Given the description of an element on the screen output the (x, y) to click on. 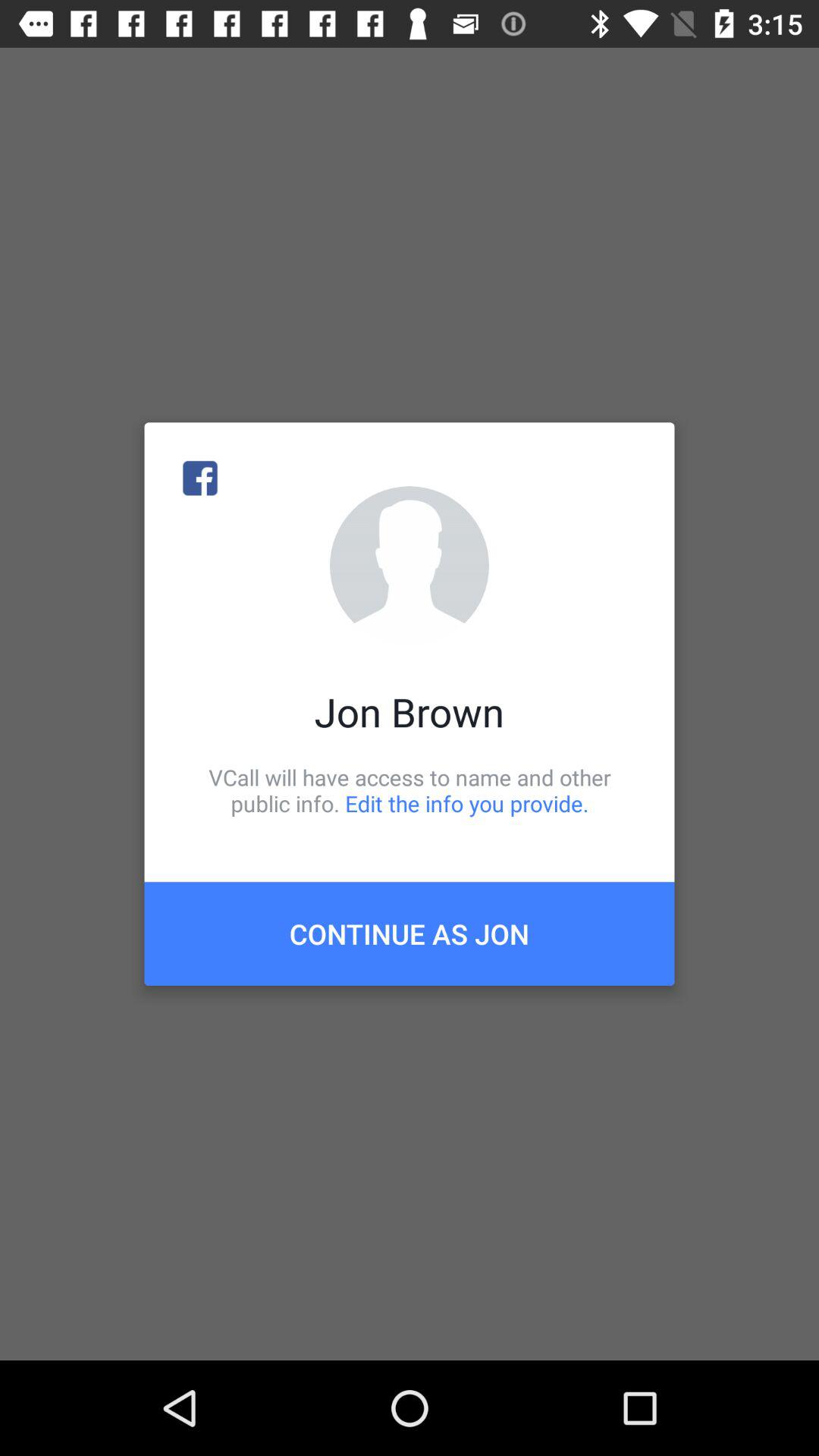
jump to the continue as jon icon (409, 933)
